Given the description of an element on the screen output the (x, y) to click on. 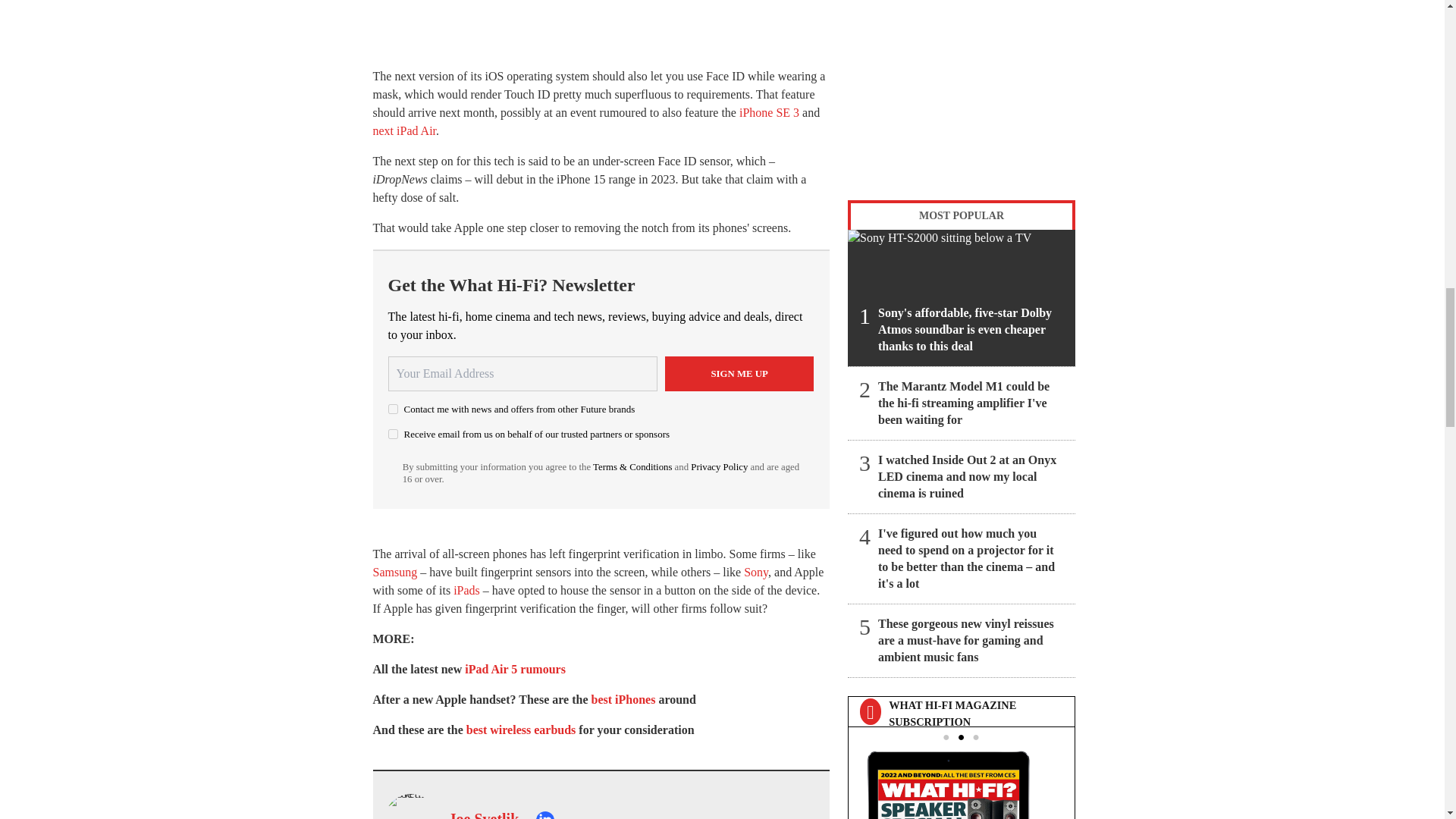
on (392, 433)
on (392, 409)
Sign me up (739, 373)
